Given the description of an element on the screen output the (x, y) to click on. 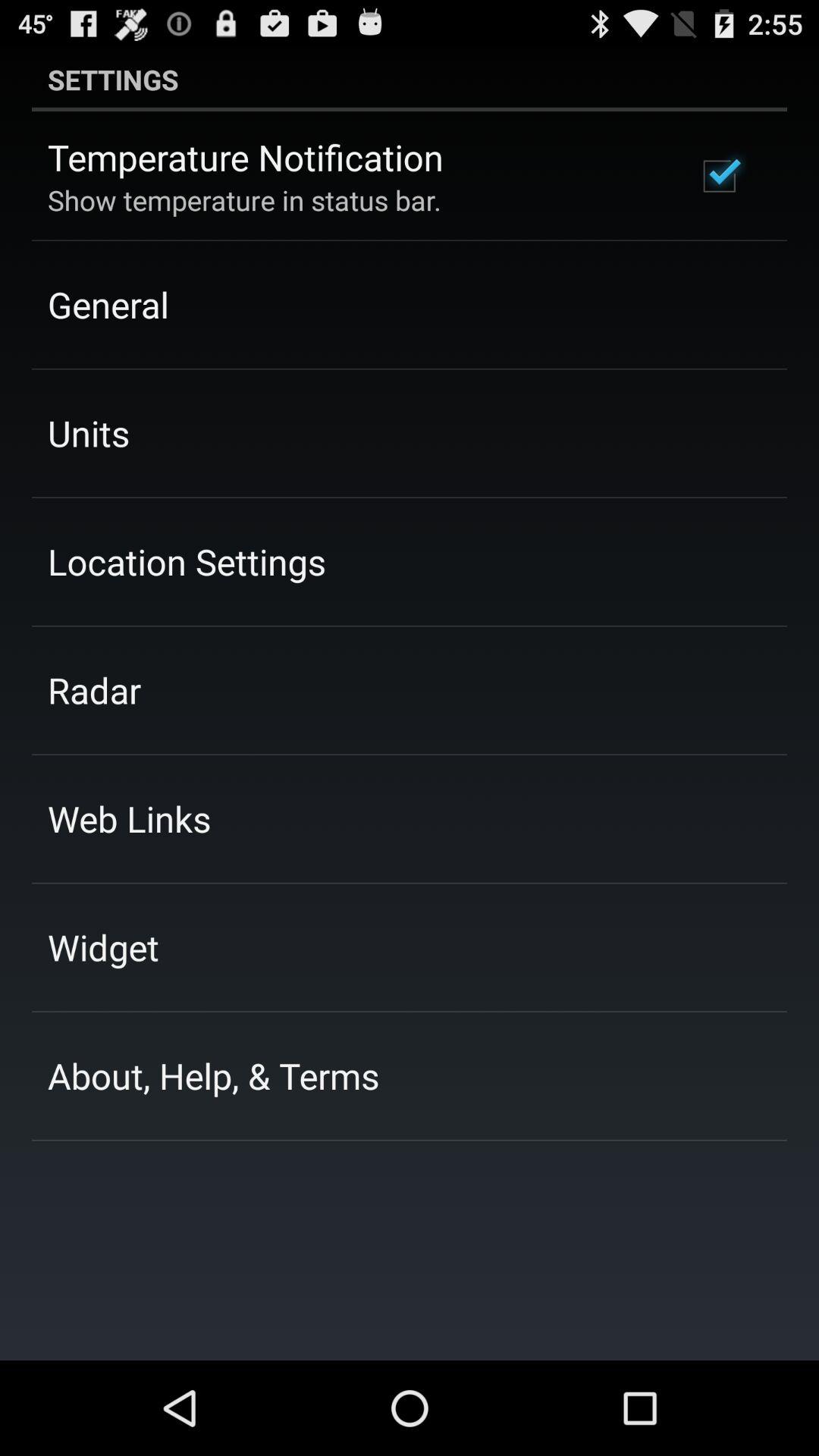
open item above units (107, 304)
